Given the description of an element on the screen output the (x, y) to click on. 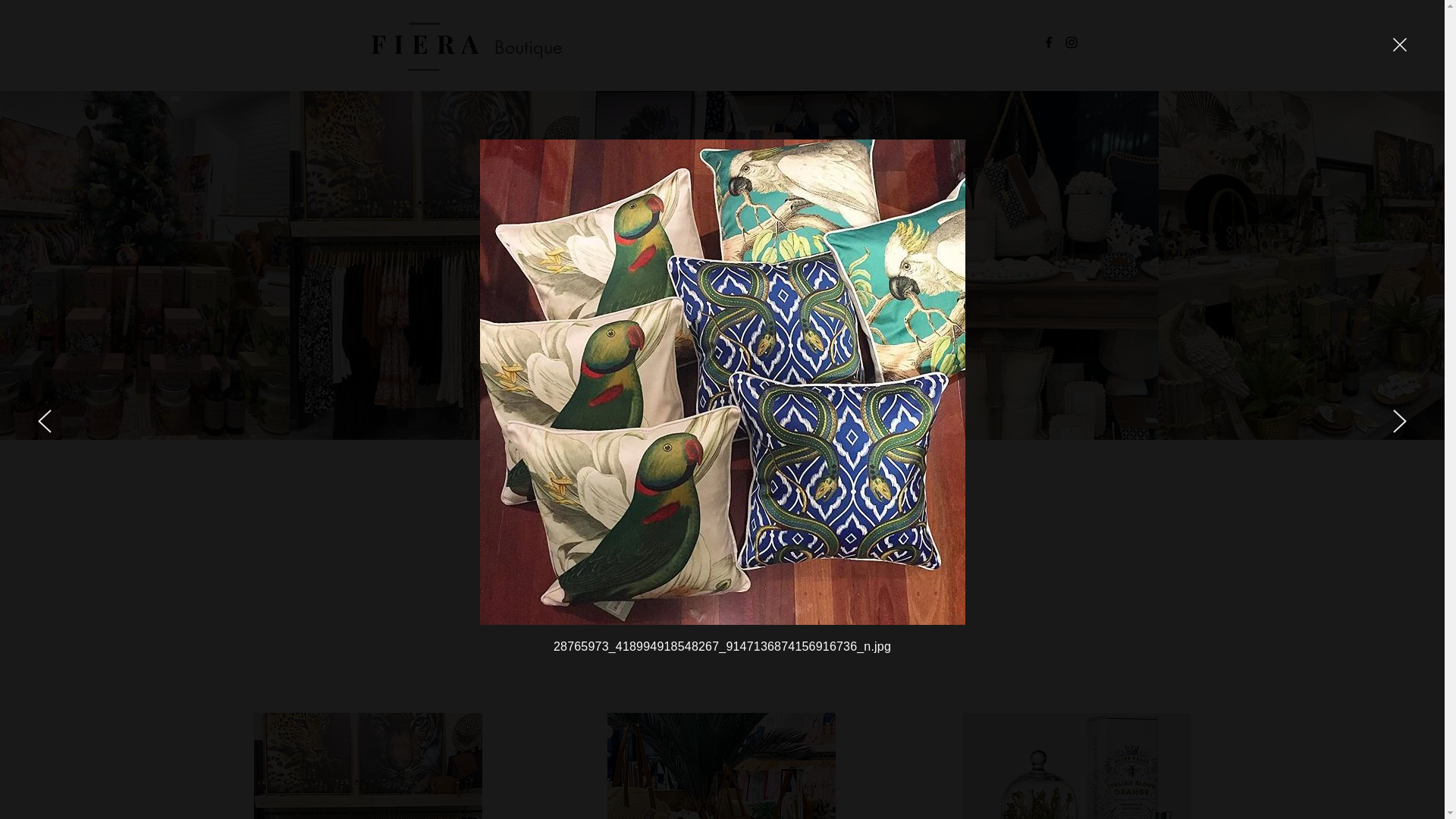
Boutique Element type: text (527, 46)
